Given the description of an element on the screen output the (x, y) to click on. 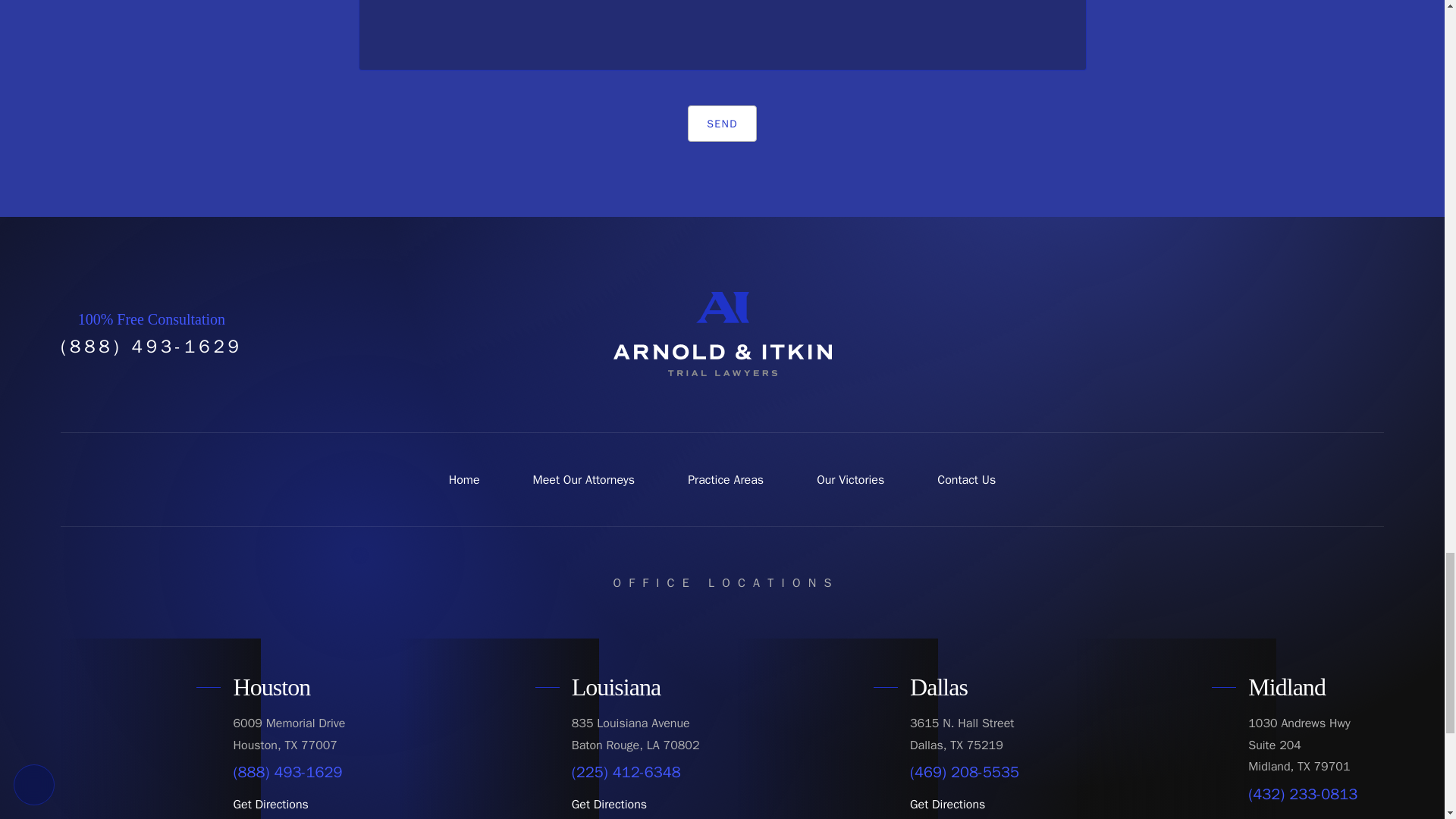
Facebook (1227, 333)
Instagram (1331, 333)
YouTube (1296, 333)
LinkedIn (1366, 333)
Twitter (1261, 333)
